Given the description of an element on the screen output the (x, y) to click on. 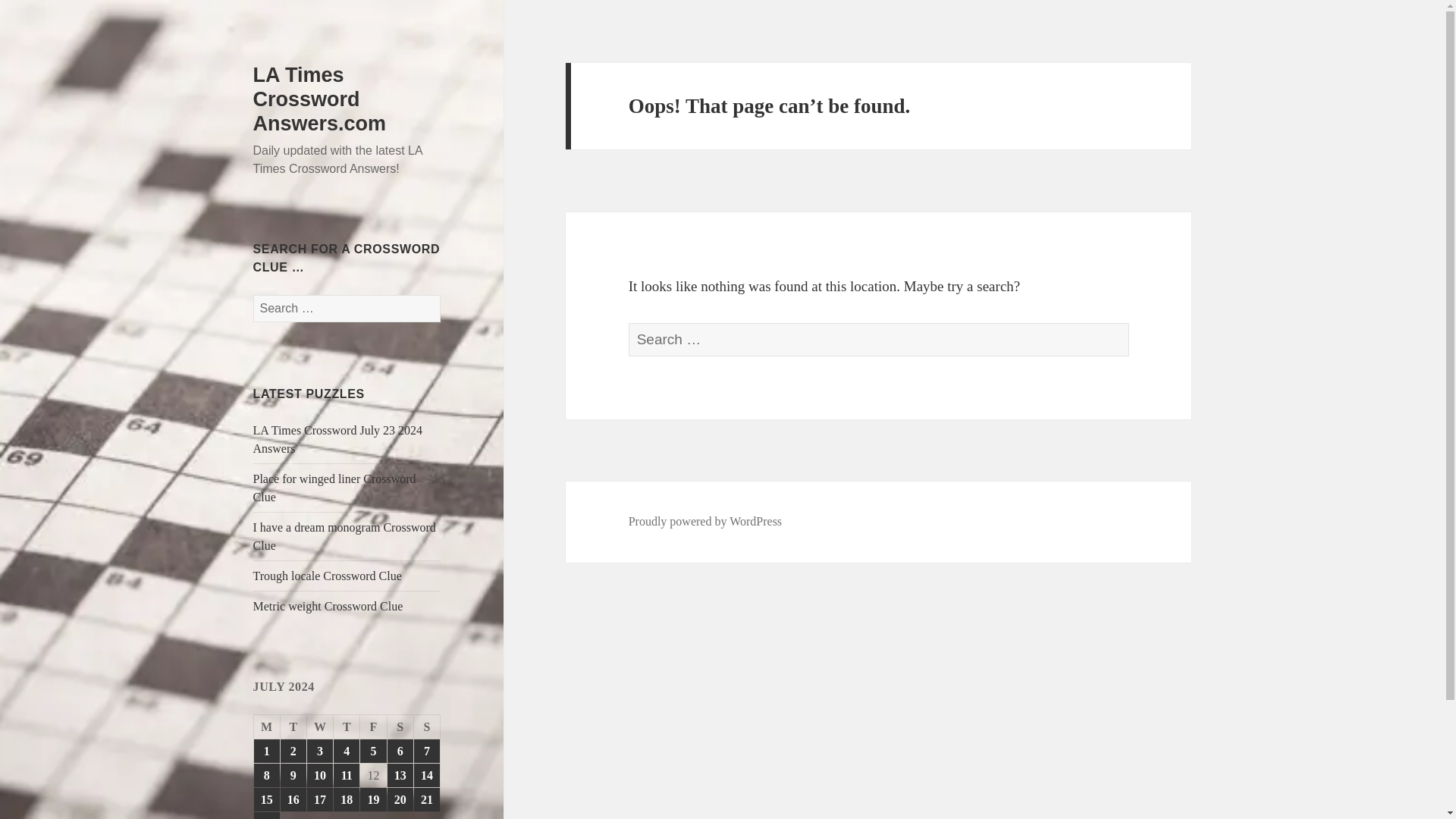
9 (293, 775)
1 (266, 750)
Monday (267, 726)
18 (346, 799)
22 (266, 815)
4 (346, 750)
6 (400, 750)
I have a dream monogram Crossword Clue (344, 536)
Metric weight Crossword Clue (328, 605)
17 (320, 799)
19 (372, 799)
Saturday (400, 726)
3 (320, 750)
Thursday (346, 726)
